Given the description of an element on the screen output the (x, y) to click on. 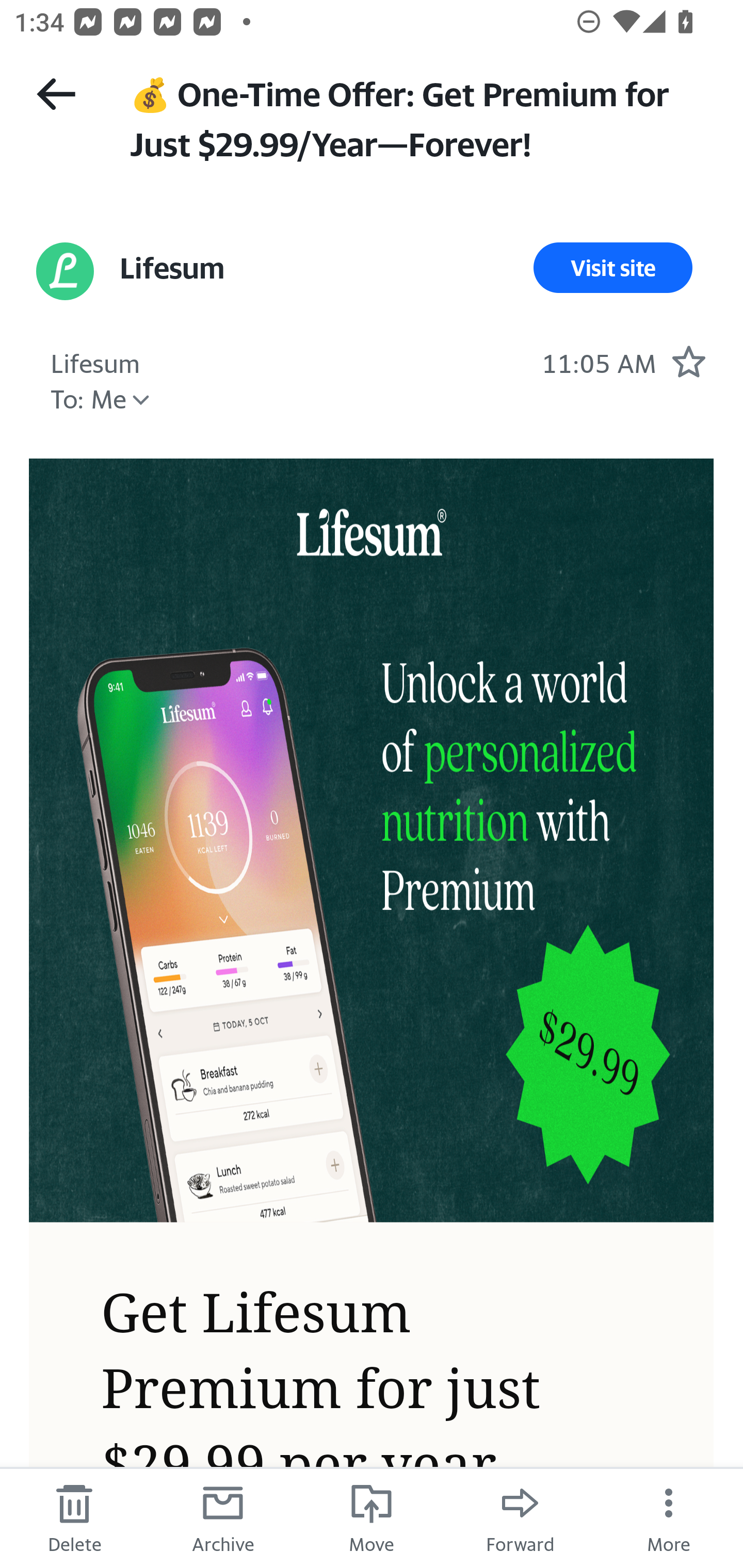
Back (55, 93)
View all messages from sender (64, 271)
Visit site Visit Site Link (612, 268)
Lifesum Sender Lifesum (171, 267)
Lifesum Sender Lifesum (95, 361)
Mark as starred. (688, 361)
Delete (74, 1517)
Archive (222, 1517)
Move (371, 1517)
Forward (519, 1517)
More (668, 1517)
